Given the description of an element on the screen output the (x, y) to click on. 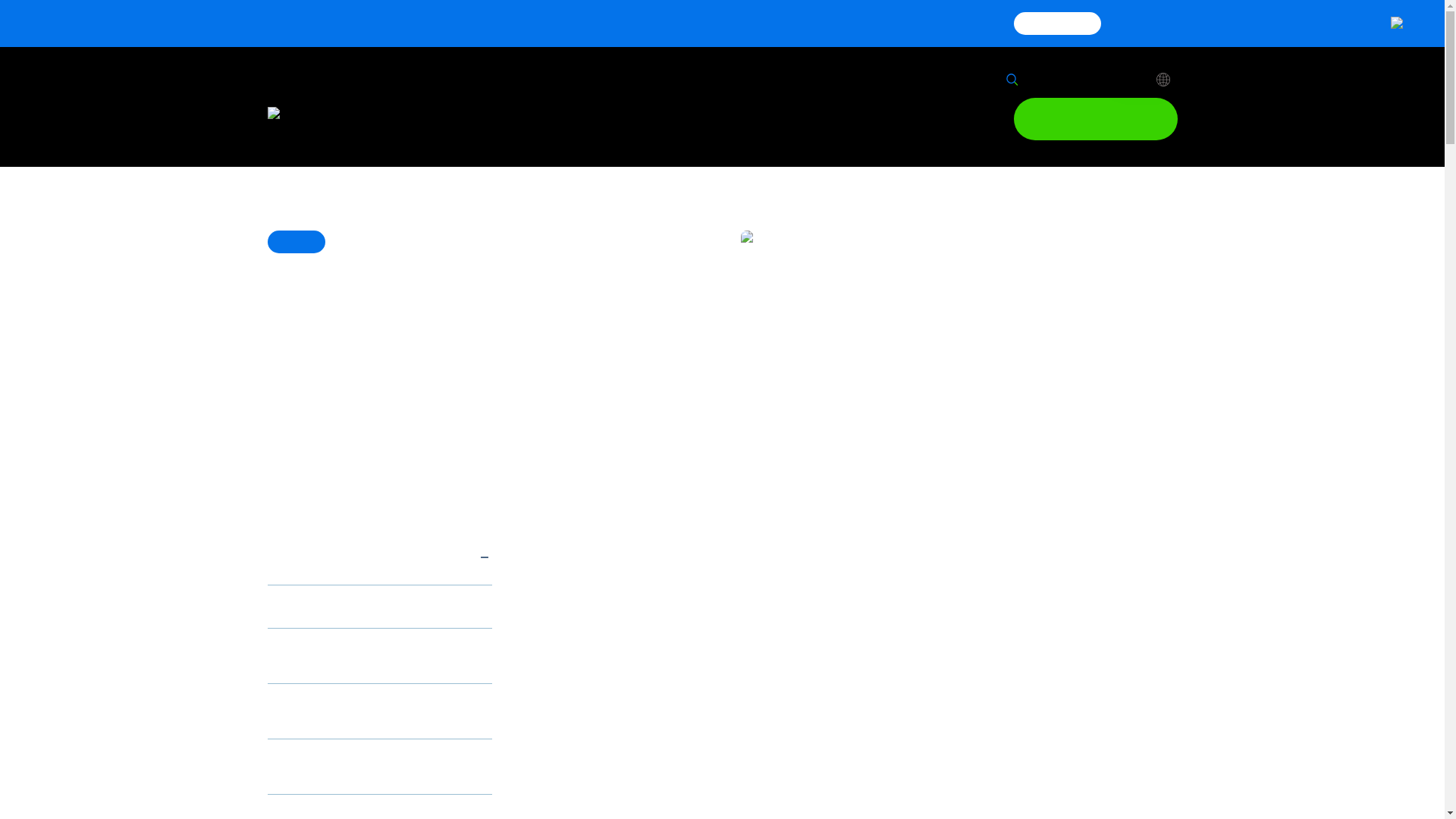
Powering Transformation with Digital Asset Management (357, 655)
Support (1052, 79)
Get It Now (1056, 23)
Solutions (601, 119)
Resources (860, 119)
Syndigo (330, 119)
Sign in (1135, 79)
Partners (778, 119)
How to Find and Implement the Right DAM (357, 766)
